Given the description of an element on the screen output the (x, y) to click on. 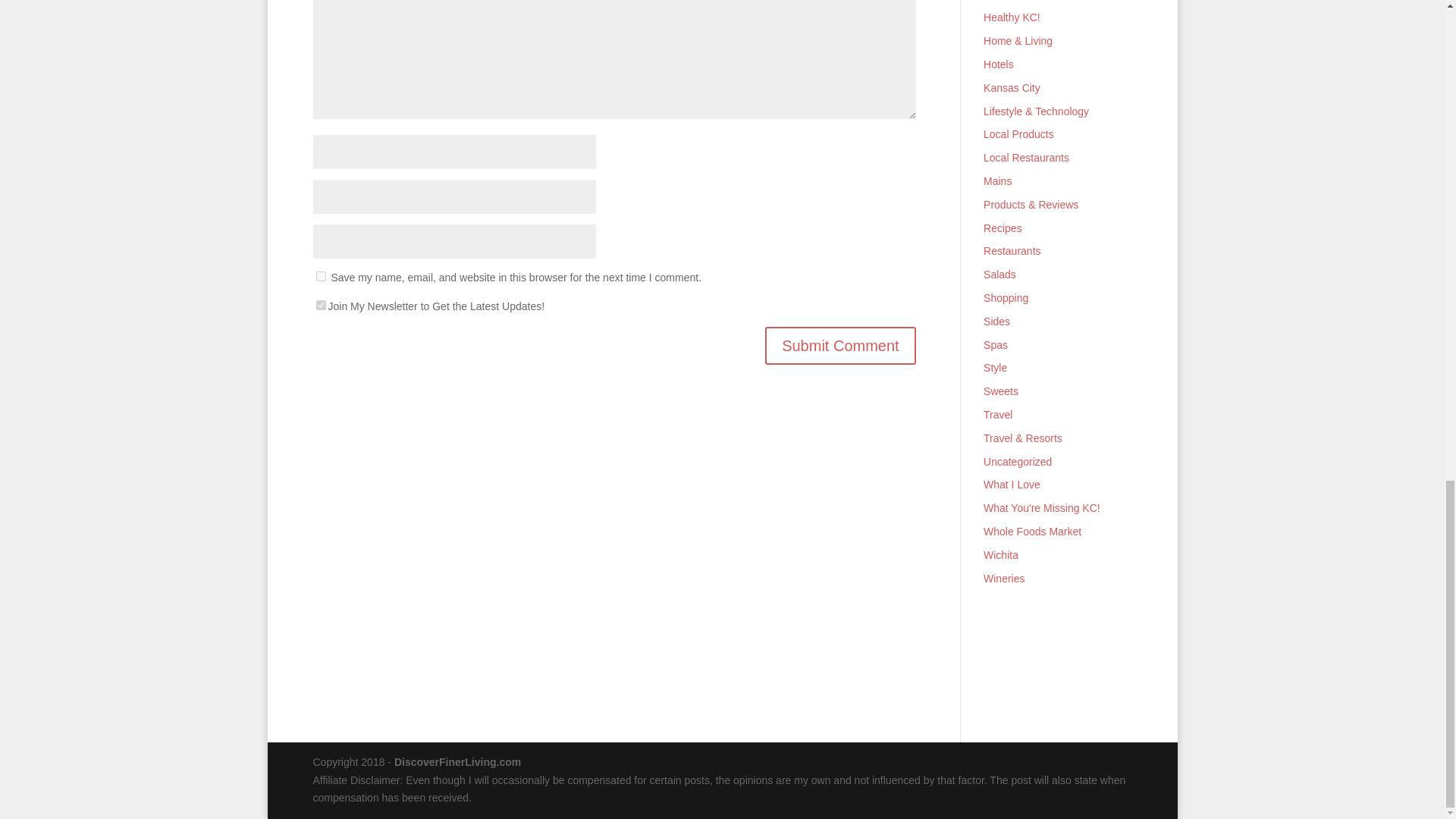
yes (319, 276)
Submit Comment (840, 345)
1 (319, 305)
Submit Comment (840, 345)
